Given the description of an element on the screen output the (x, y) to click on. 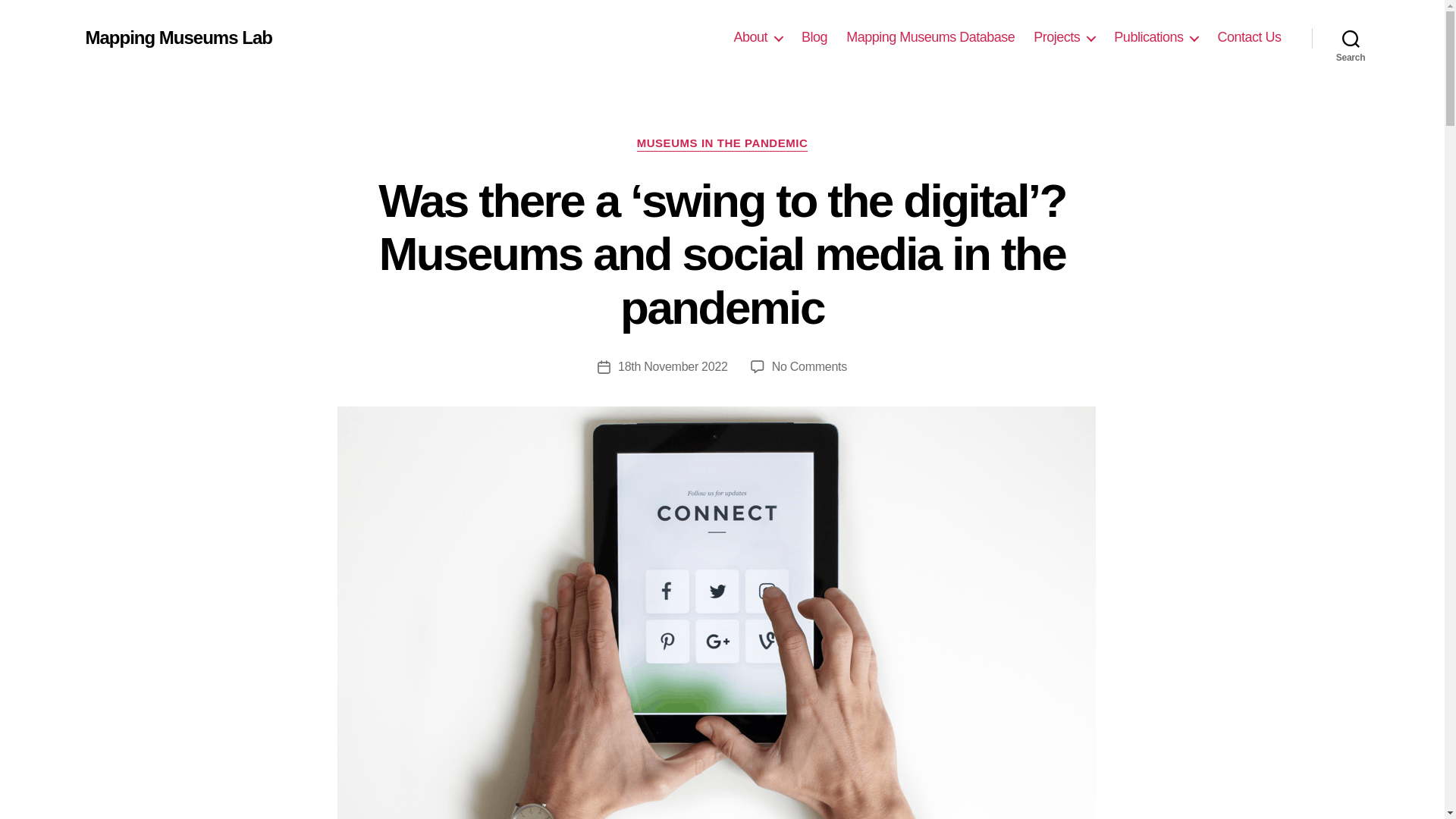
About (758, 37)
Mapping Museums Database (929, 37)
Projects (1063, 37)
Publications (1155, 37)
Mapping Museums Lab (177, 37)
Search (1350, 37)
Blog (814, 37)
Contact Us (1249, 37)
